Given the description of an element on the screen output the (x, y) to click on. 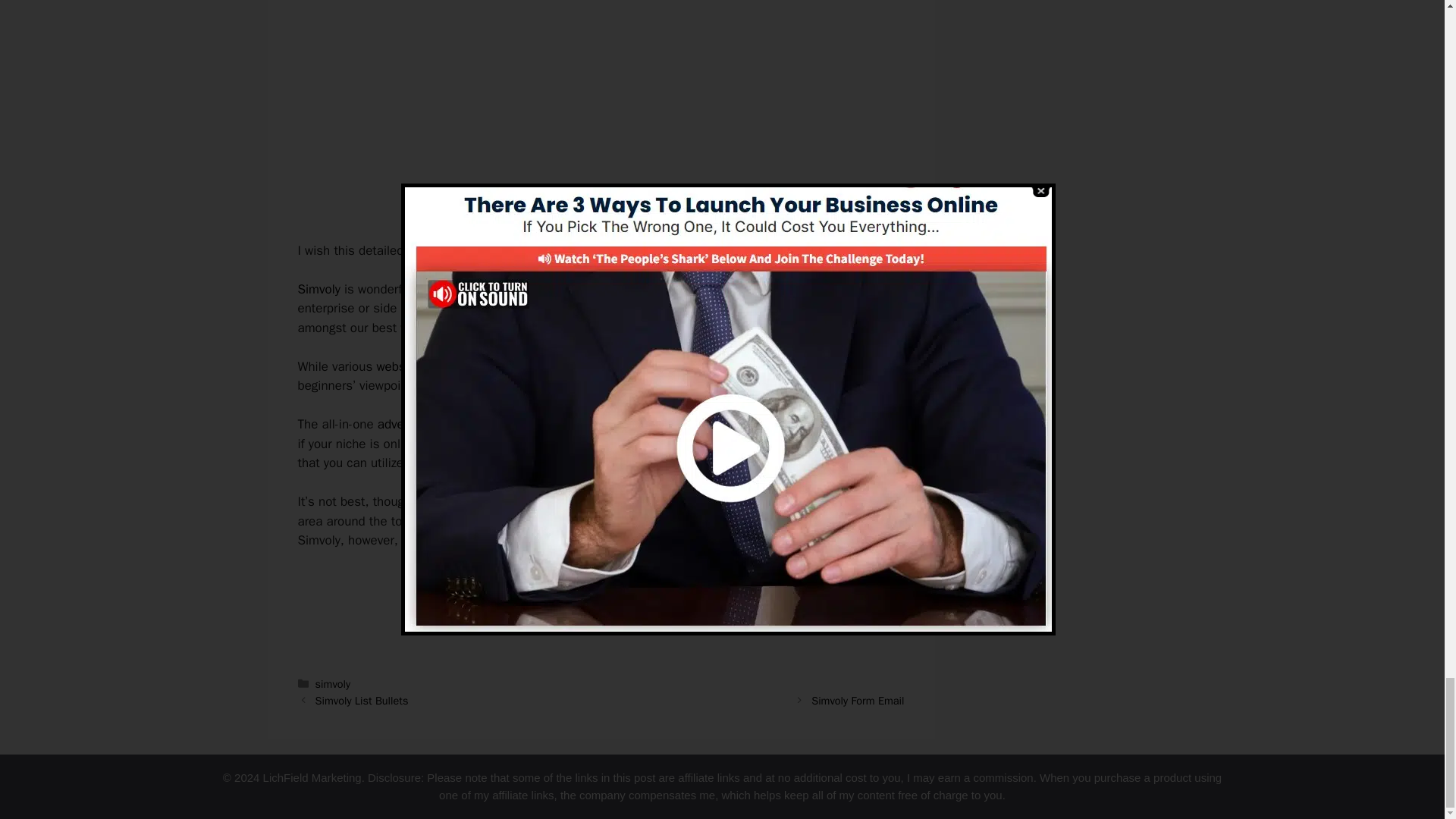
high converting sales funnels (614, 289)
simvoly (332, 684)
Simvoly (318, 289)
Simvoly List Bullets (362, 700)
website (397, 366)
Try Simvoly Here (600, 592)
internet marketing professionals (801, 385)
advertising and marketing (449, 424)
Simvoly Form Email (857, 700)
